Given the description of an element on the screen output the (x, y) to click on. 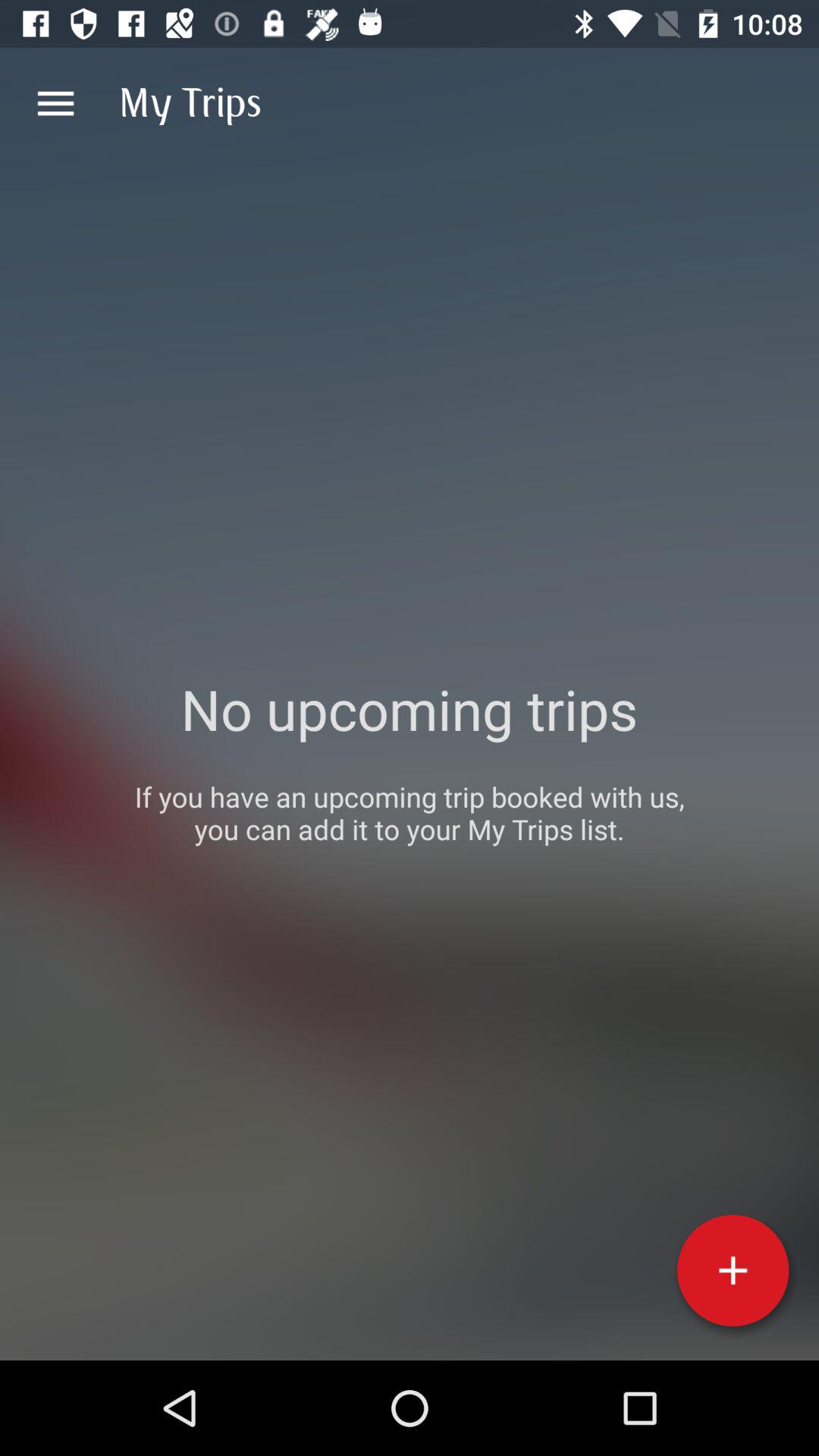
open all options (55, 103)
